Given the description of an element on the screen output the (x, y) to click on. 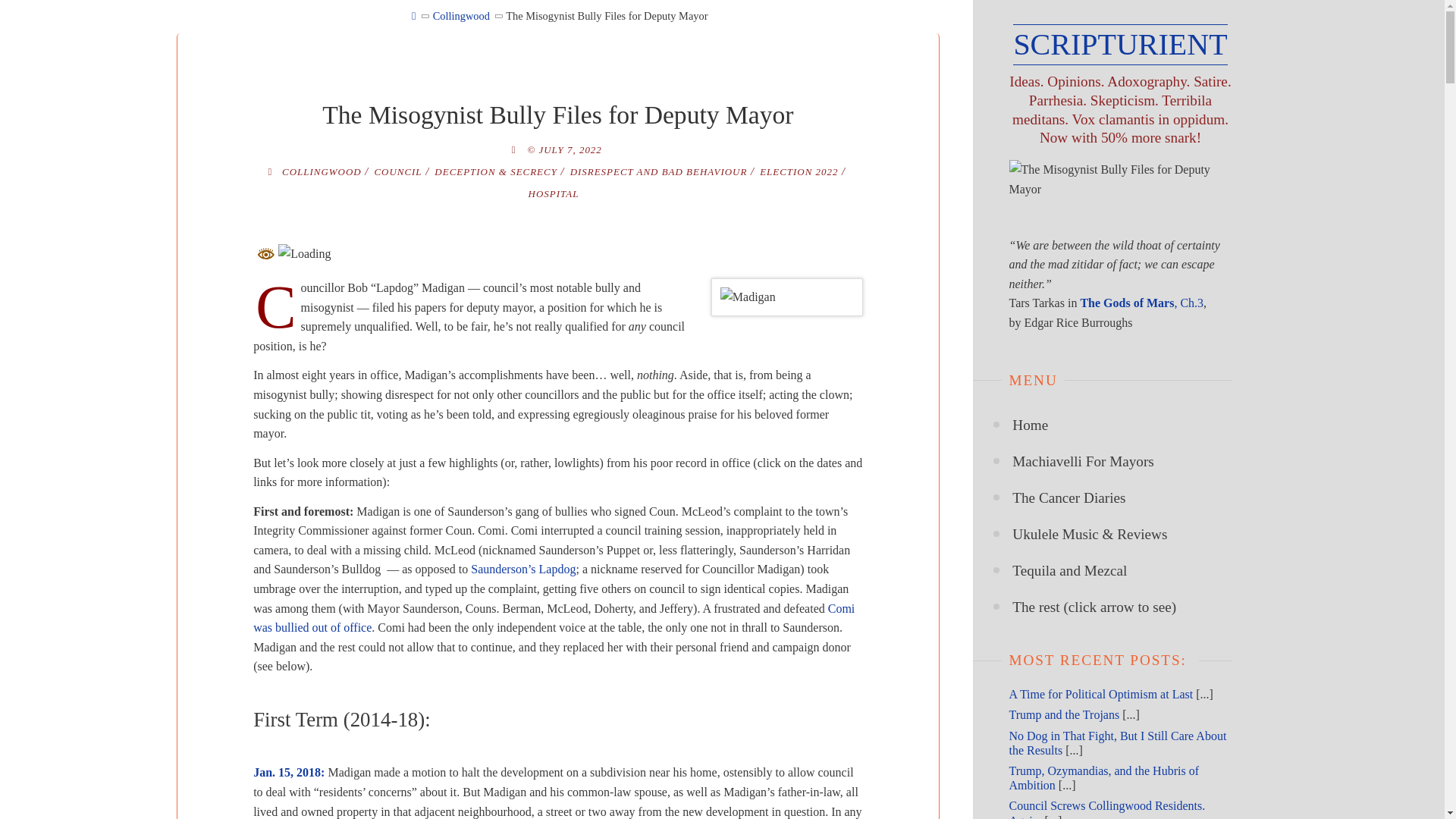
Trump and the Trojans (1064, 714)
The Cancer Diaries (1068, 497)
The Gods of Mars, Ch.3 (1142, 302)
SCRIPTURIENT (1120, 44)
Tequila and Mezcal (1068, 570)
A Time for Political Optimism at Last (1100, 694)
Council Screws Collingwood Residents. Again. (1107, 809)
Trump, Ozymandias, and the Hubris of Ambition (1103, 777)
No Dog in That Fight, But I Still Care About the Results (1117, 742)
Home (1029, 424)
